Given the description of an element on the screen output the (x, y) to click on. 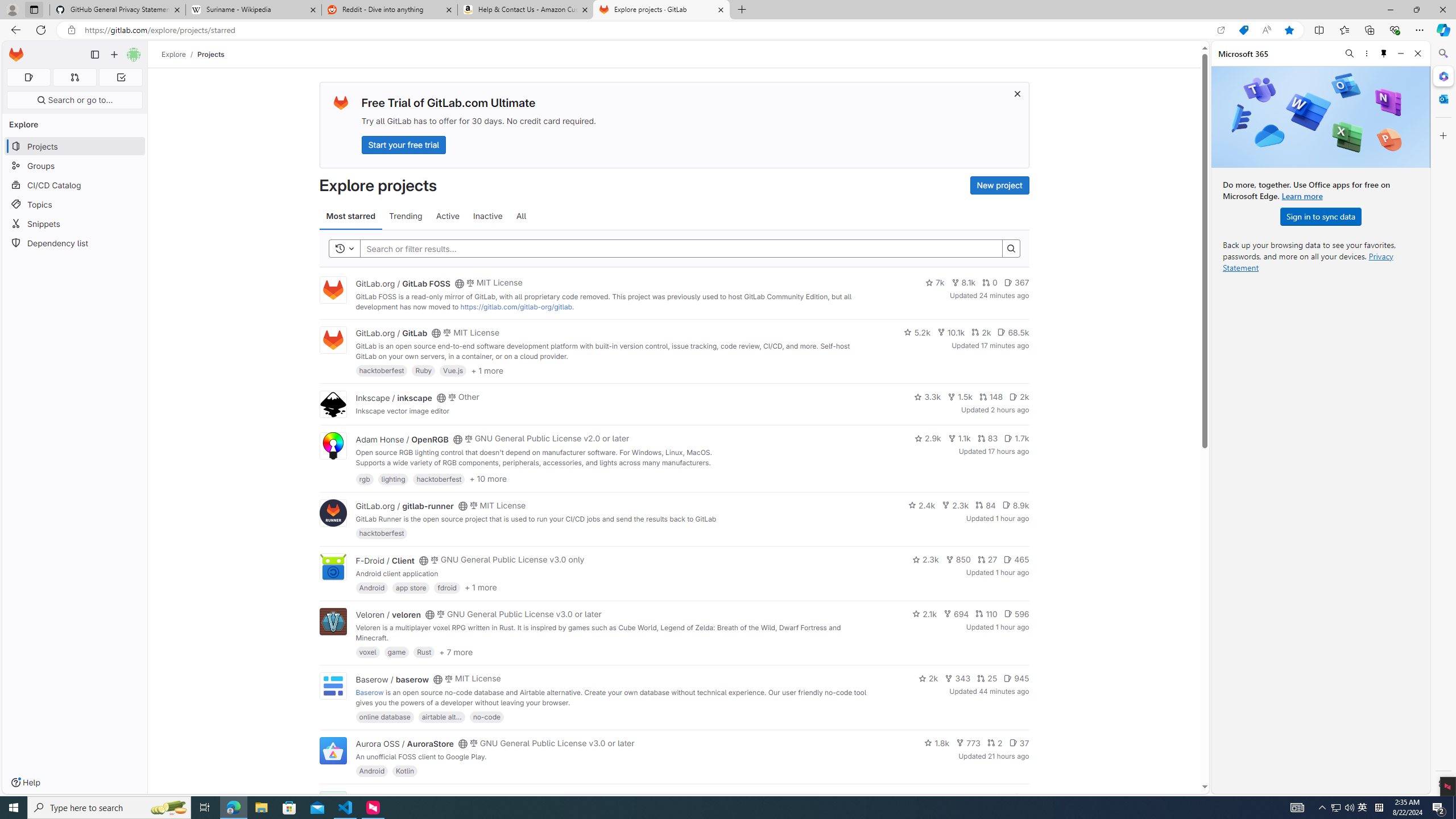
850 (957, 559)
Topics (74, 203)
CI/CD Catalog (74, 185)
773 (968, 742)
Active (448, 216)
694 (956, 613)
New project (999, 185)
Groups (74, 165)
Edouard Klein / falsisign (401, 797)
fdroid (446, 587)
Class: s16 gl-icon gl-button-icon  (1016, 93)
